Given the description of an element on the screen output the (x, y) to click on. 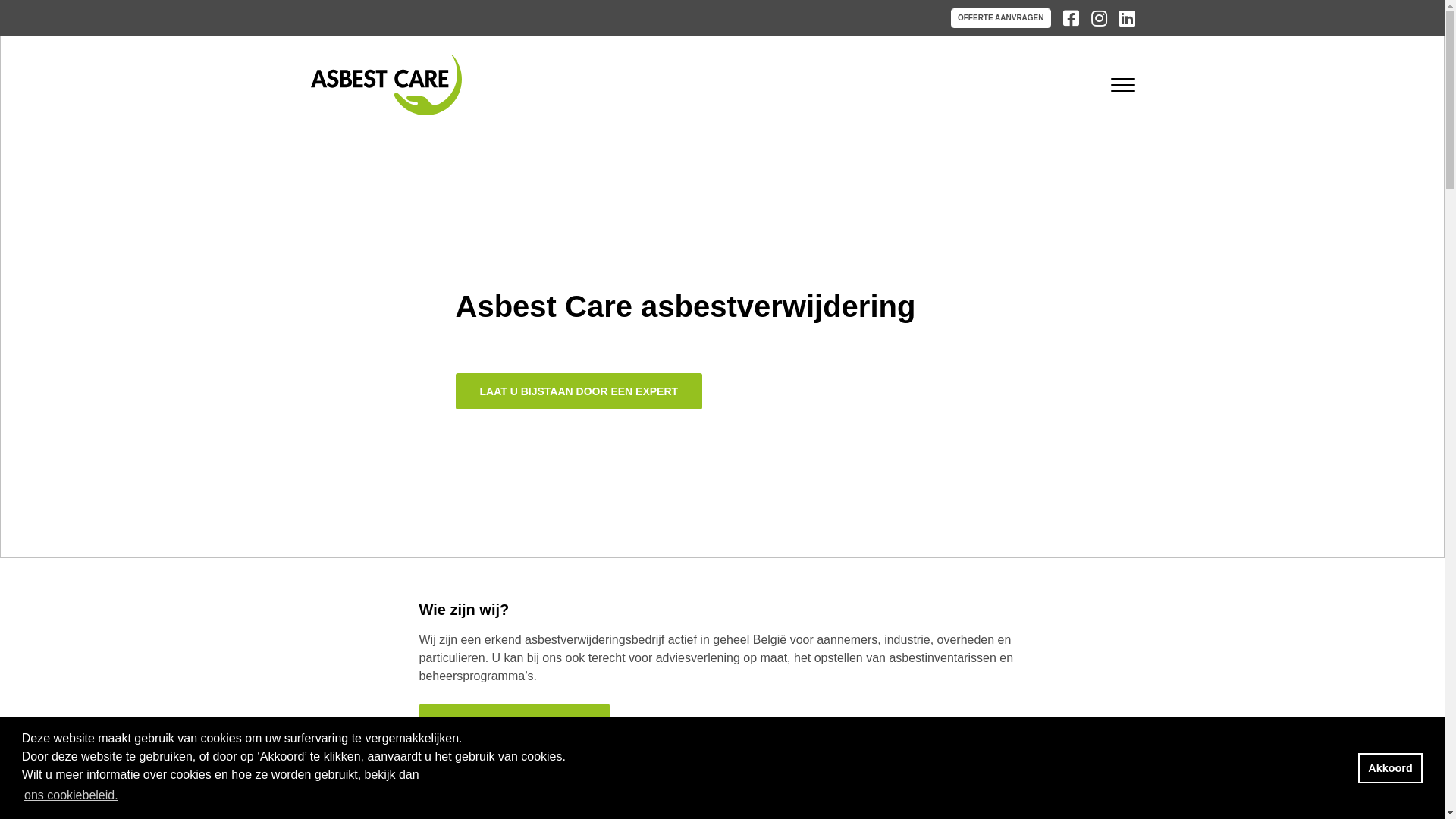
ons cookiebeleid. Element type: text (70, 795)
MEER OVER ASBEST CARE Element type: text (513, 721)
LAAT U BIJSTAAN DOOR EEN EXPERT Element type: text (578, 391)
OFFERTE AANVRAGEN Element type: text (1000, 18)
Akkoord Element type: text (1390, 768)
